Given the description of an element on the screen output the (x, y) to click on. 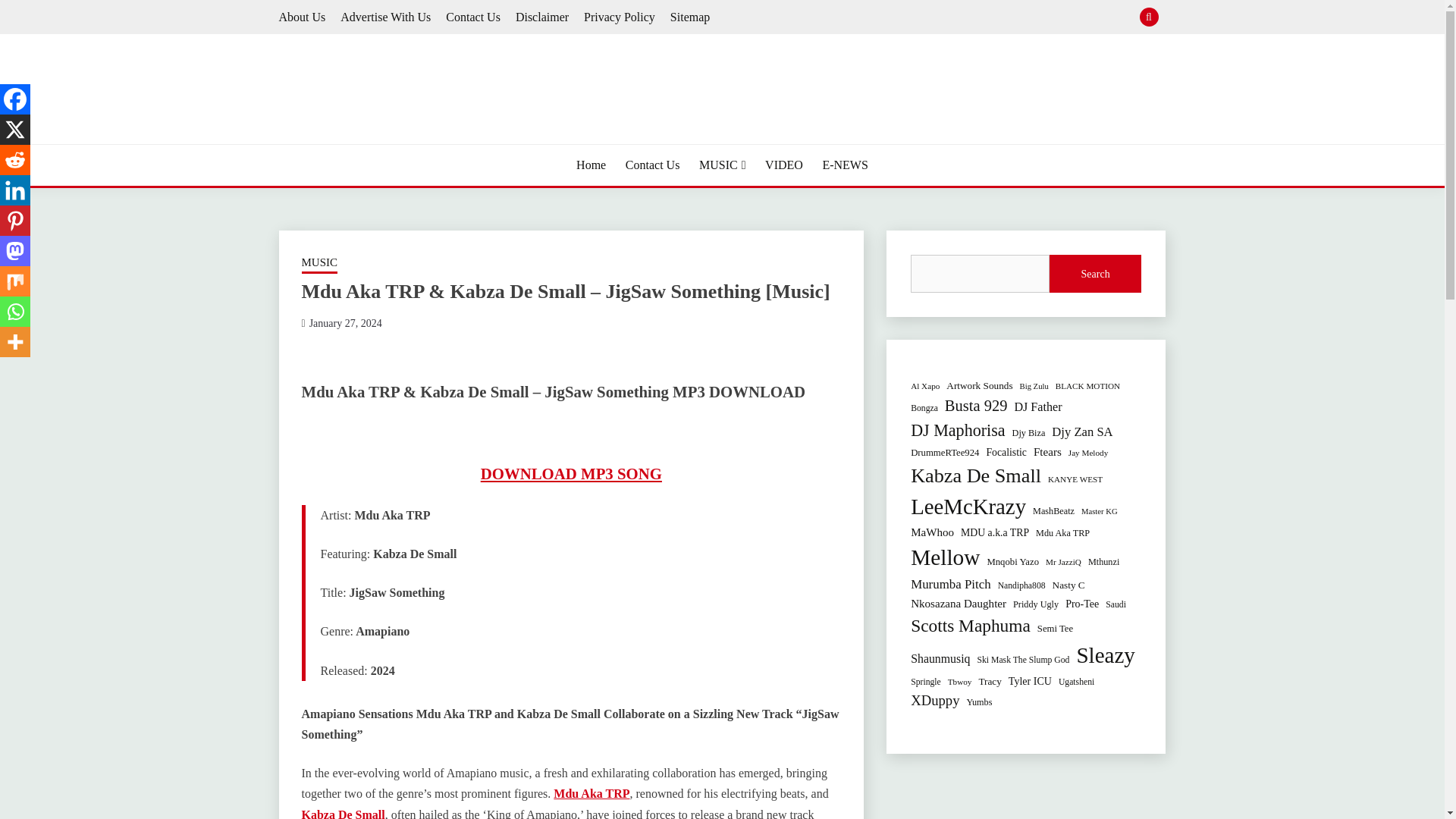
About Us (302, 16)
Mdu Aka TRP (590, 793)
Contact Us (652, 165)
E-NEWS (844, 165)
Search (832, 18)
MUSIC (319, 263)
Disclaimer (542, 16)
Linkedin (15, 190)
Sitemap (689, 16)
Contact Us (472, 16)
